Given the description of an element on the screen output the (x, y) to click on. 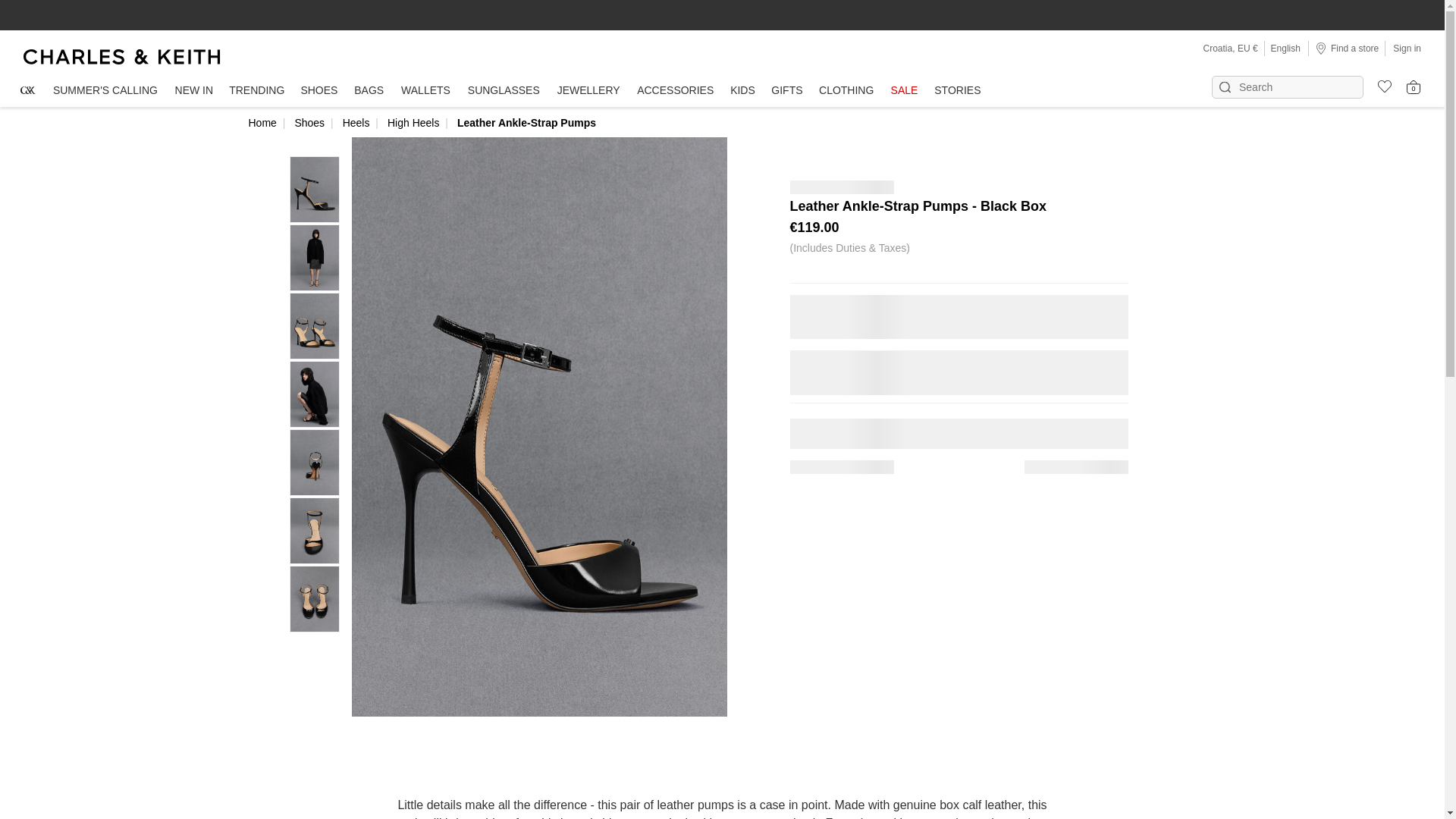
ACCESSORIES (675, 91)
CLOTHING (846, 91)
Sign in (1407, 48)
wishlist (1378, 84)
Find a store (1346, 48)
BAGS (369, 91)
SHOES (319, 91)
GIFTS (786, 91)
STORIES (957, 91)
View Cart (1413, 87)
WALLETS (426, 91)
SUNGLASSES (504, 91)
TRENDING (256, 91)
Croatia, (1220, 48)
SALE (904, 91)
